Given the description of an element on the screen output the (x, y) to click on. 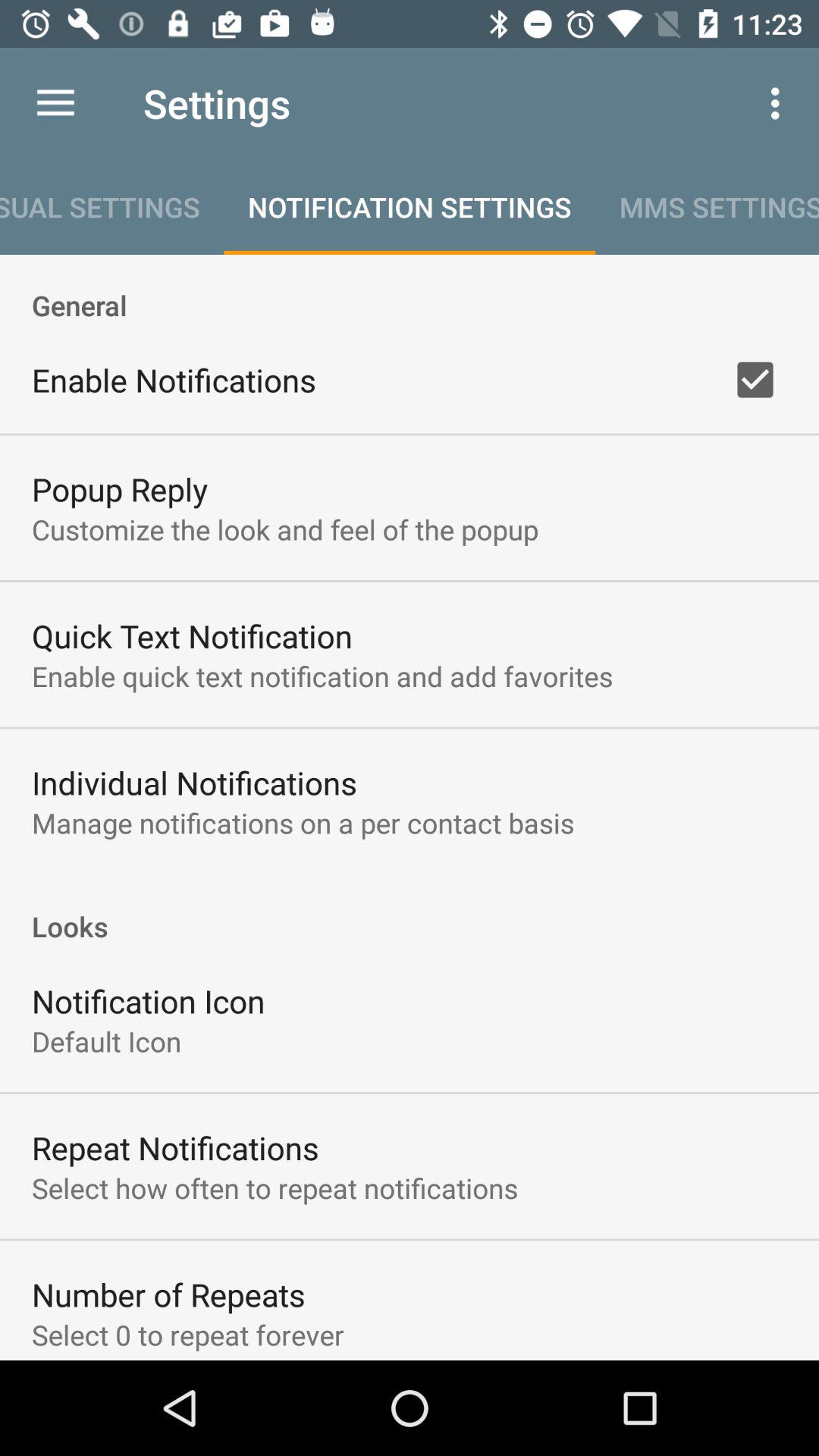
click icon below notification icon (106, 1041)
